Given the description of an element on the screen output the (x, y) to click on. 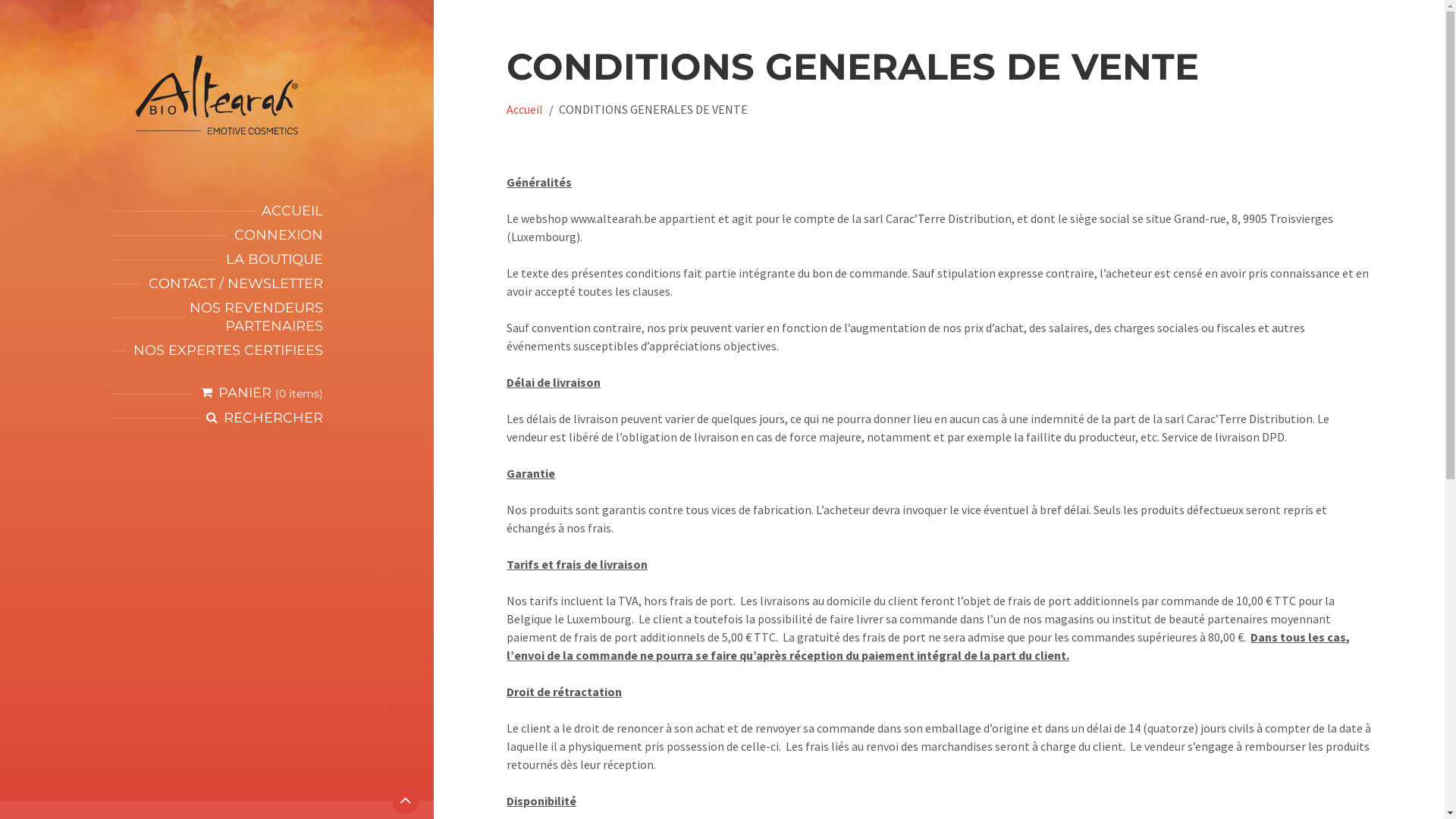
NOS REVENDEURS PARTENAIRES Element type: text (256, 316)
RECHERCHER Element type: text (273, 417)
CONTACT / NEWSLETTER Element type: text (235, 283)
NOS EXPERTES CERTIFIEES Element type: text (228, 350)
LA BOUTIQUE Element type: text (274, 259)
ACCUEIL Element type: text (292, 210)
CONNEXION Element type: text (278, 234)
PANIER (0 items) Element type: text (261, 392)
Accueil Element type: text (524, 109)
